Given the description of an element on the screen output the (x, y) to click on. 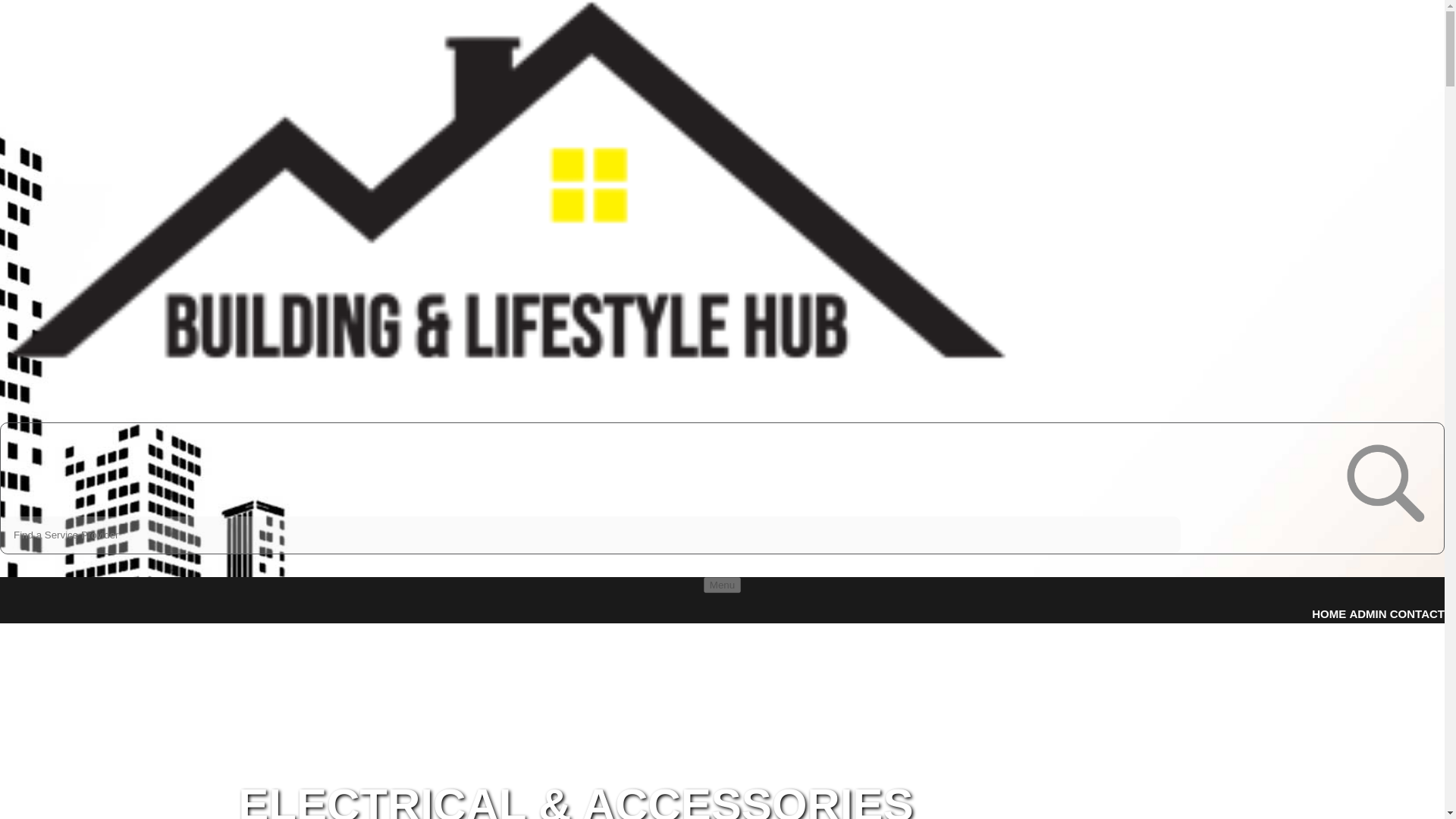
Menu (722, 584)
HOME (1328, 613)
ADMIN (1367, 613)
